Given the description of an element on the screen output the (x, y) to click on. 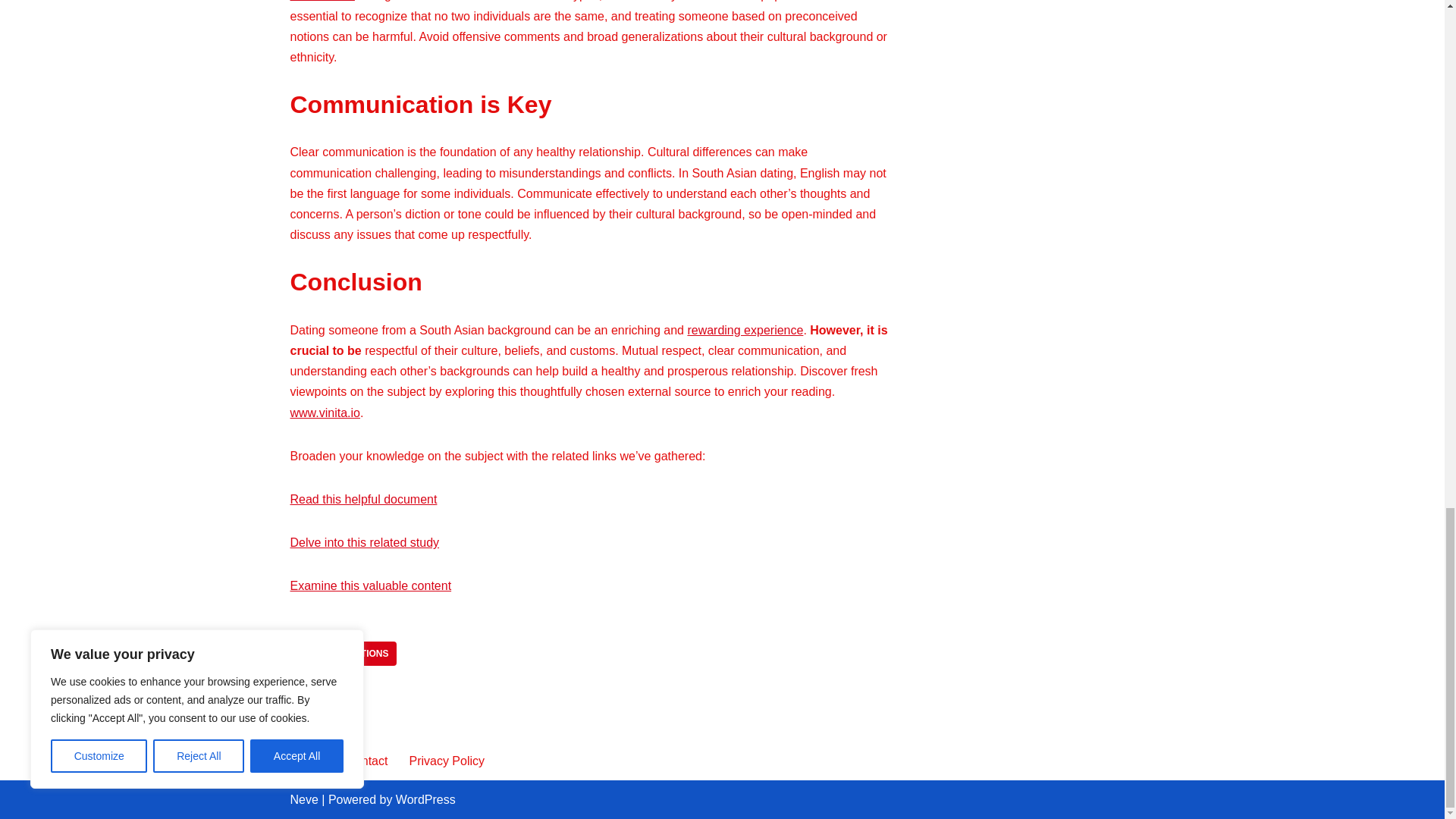
Read this helpful document (362, 499)
South Asian (321, 0)
Situations (361, 653)
Examine this valuable content (370, 585)
SITUATIONS (361, 653)
rewarding experience (745, 329)
Delve into this related study (364, 542)
www.vinita.io (324, 412)
